Given the description of an element on the screen output the (x, y) to click on. 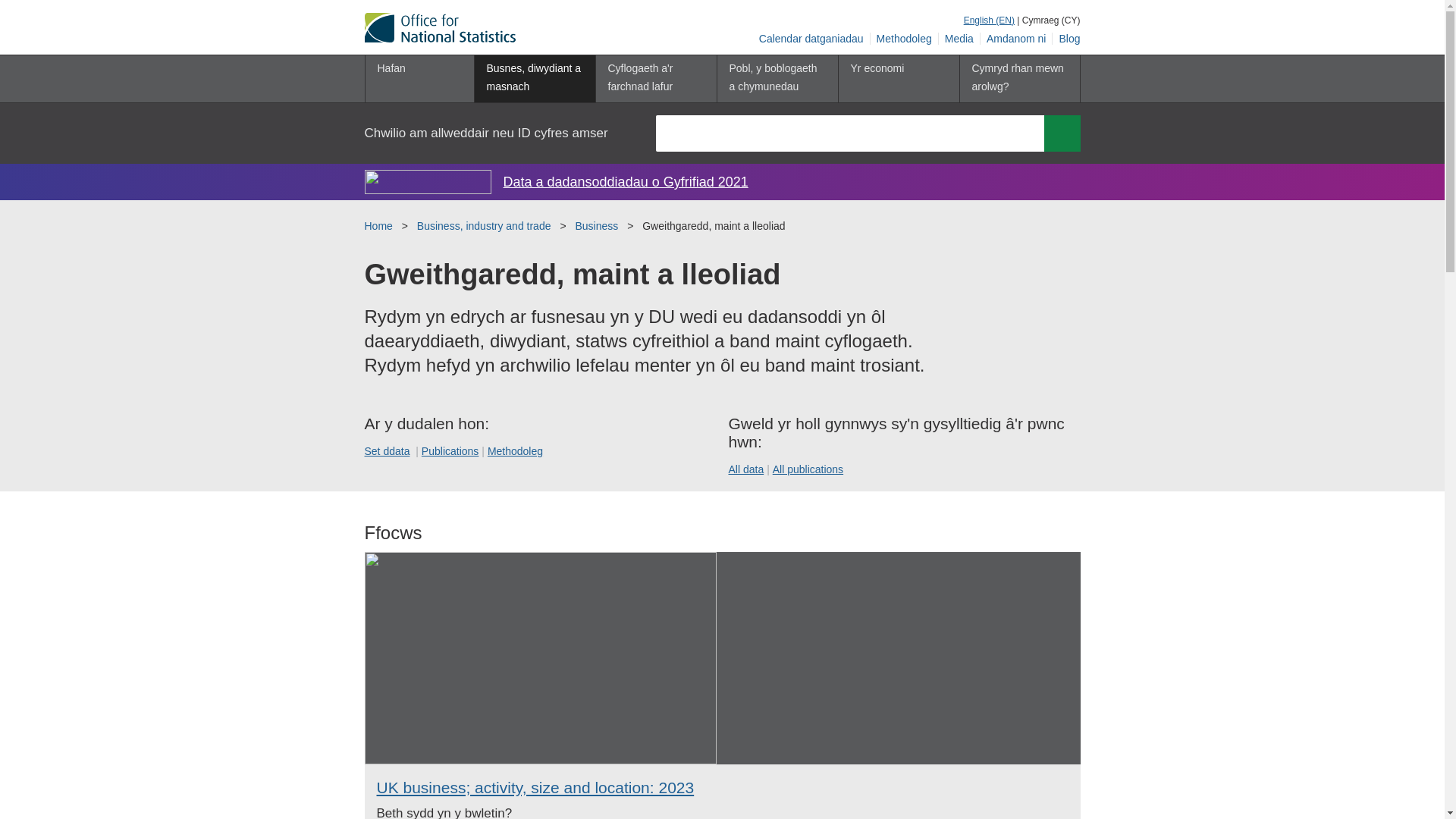
Hafan (418, 78)
Cyflogaeth a'r farchnad lafur (655, 78)
Media (959, 38)
Set ddata (386, 451)
Cyfrifiad 2021 (427, 181)
Methodoleg (515, 451)
Busnes, diwydiant a masnach (533, 78)
Blog (1066, 38)
Methodoleg (904, 38)
Calendar datganiadau (811, 38)
